Given the description of an element on the screen output the (x, y) to click on. 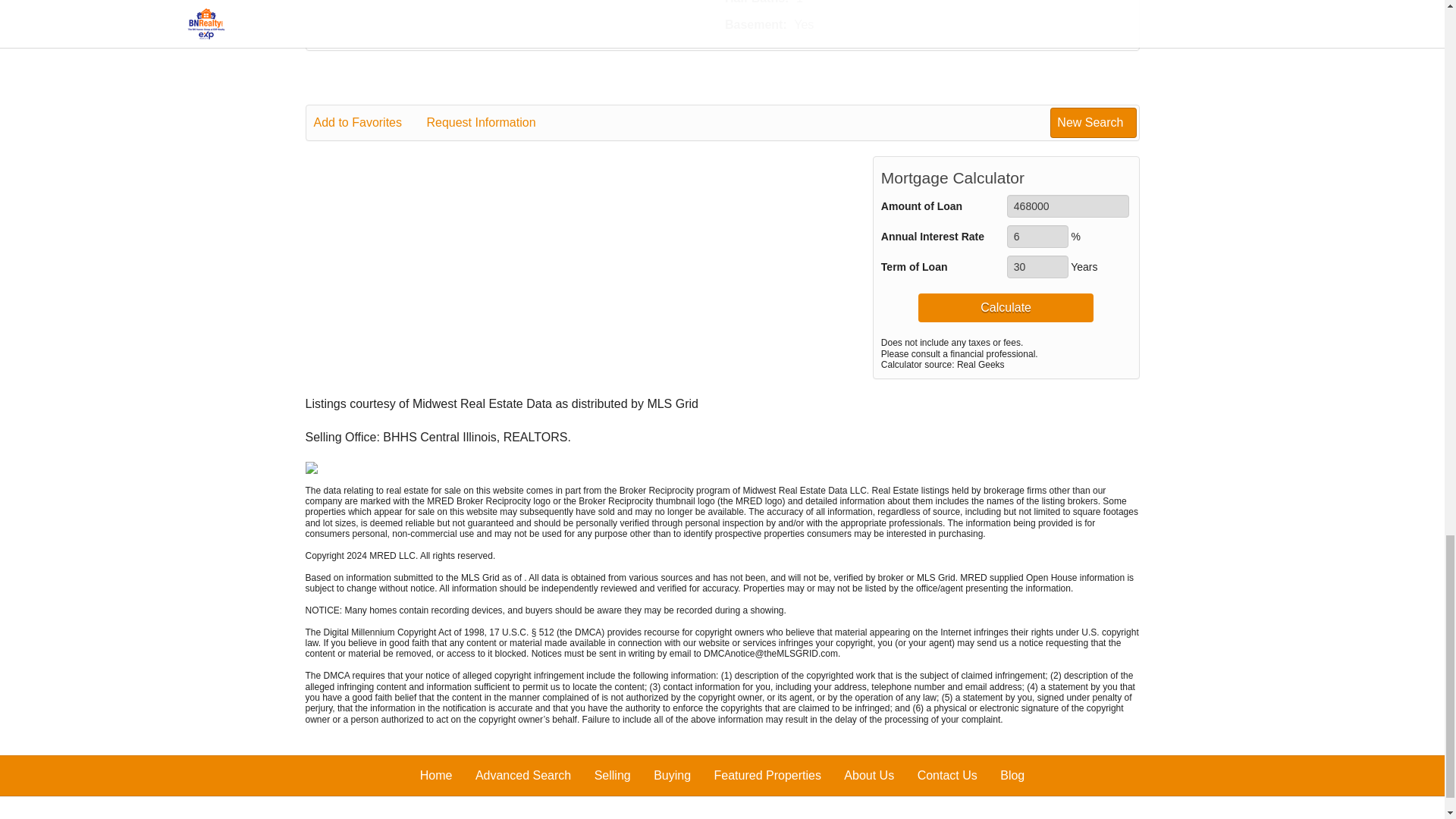
30 (1037, 266)
6 (1037, 236)
468000 (1068, 205)
